Given the description of an element on the screen output the (x, y) to click on. 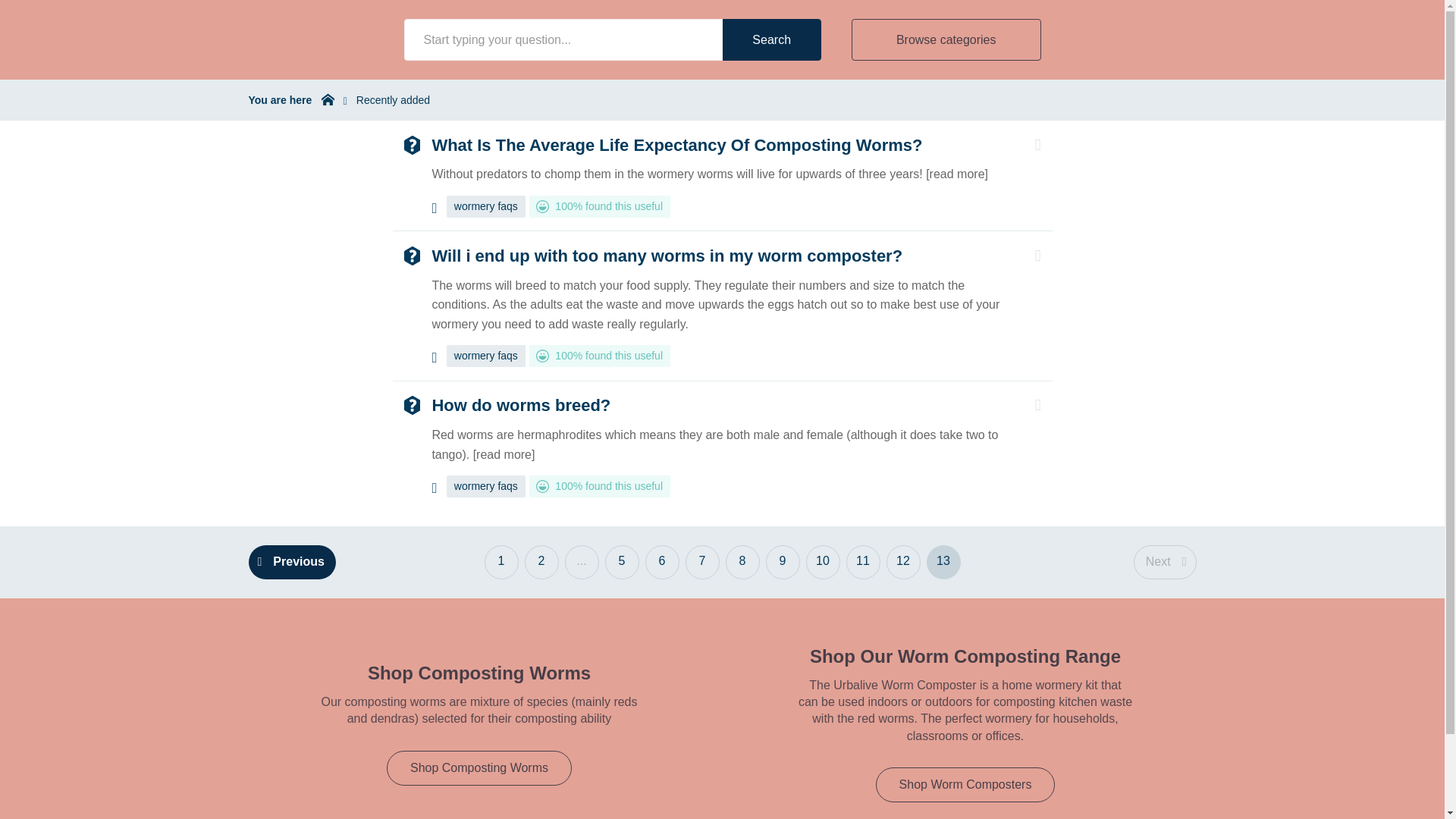
What Is The Average Life Expectancy Of Composting Worms? (675, 144)
7 (702, 562)
wormery faqs (485, 355)
Shop Composting Worms (479, 672)
Browse categories (946, 39)
9 (782, 562)
Search (771, 39)
2 (541, 562)
Shop Composting Worms (479, 768)
6 (661, 562)
